Given the description of an element on the screen output the (x, y) to click on. 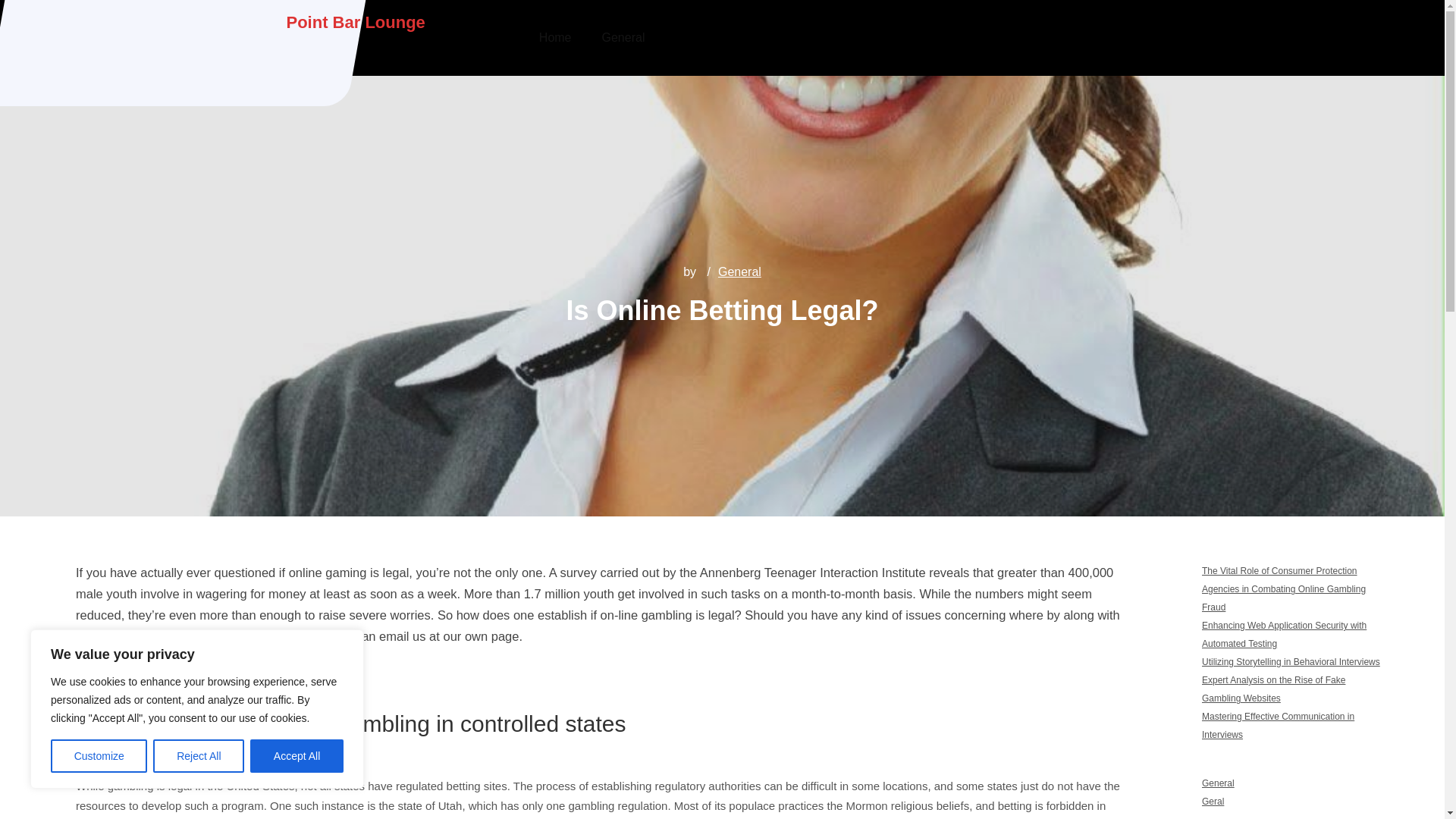
Utilizing Storytelling in Behavioral Interviews (1291, 661)
Reject All (198, 756)
Geral (1213, 801)
Mastering Effective Communication in Interviews (1278, 725)
General (1218, 783)
Point Bar Lounge (355, 22)
Point Bar Lounge (355, 22)
General (623, 38)
General (739, 271)
Accept All (296, 756)
Expert Analysis on the Rise of Fake Gambling Websites (1273, 688)
Customize (98, 756)
Enhancing Web Application Security with Automated Testing (1284, 634)
